Given the description of an element on the screen output the (x, y) to click on. 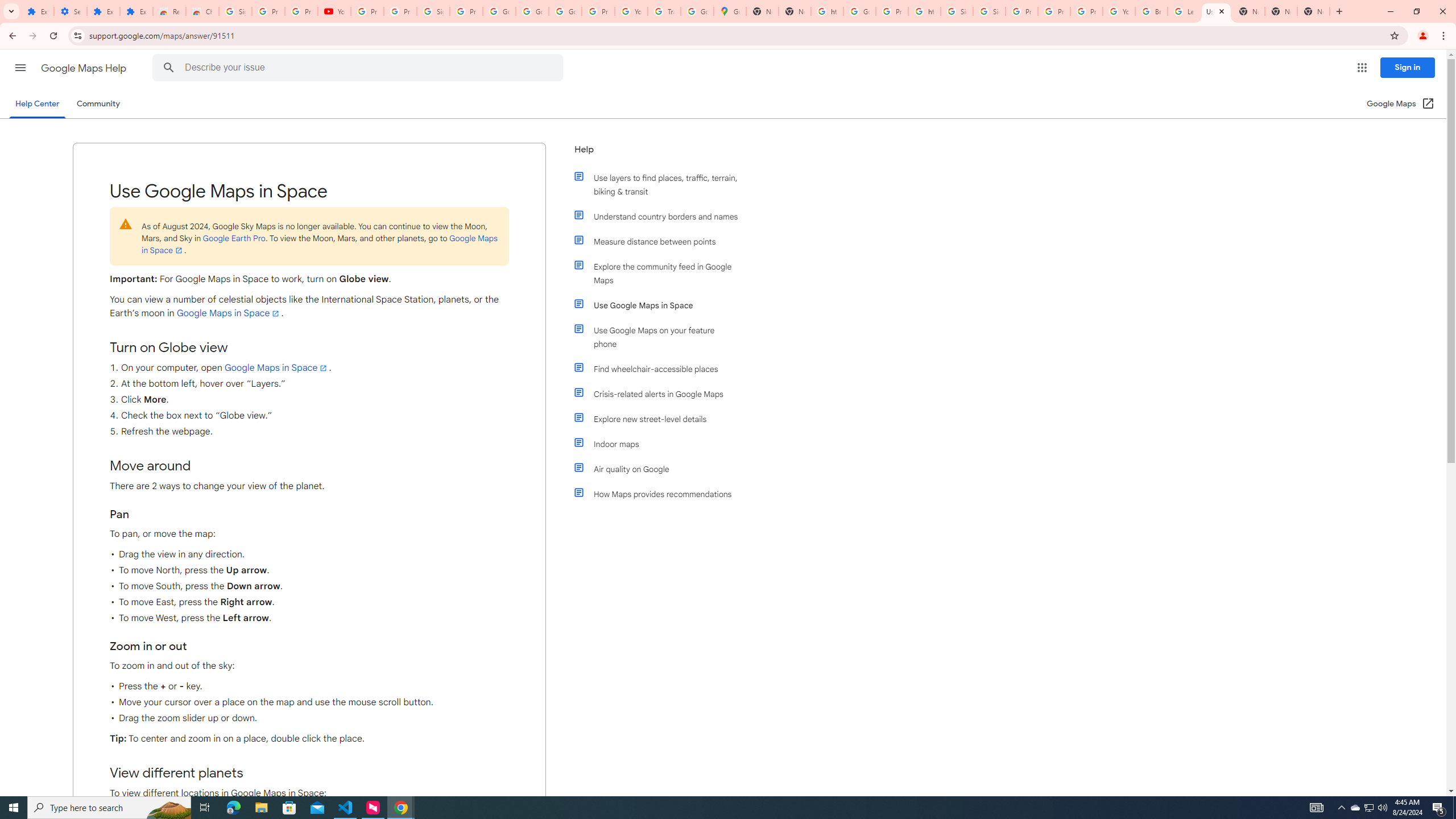
Sign in - Google Accounts (957, 11)
Google Maps (Open in a new window) (1400, 103)
Air quality on Google (661, 469)
https://scholar.google.com/ (827, 11)
Google Maps in Space (276, 367)
YouTube (1118, 11)
Privacy Help Center - Policies Help (1021, 11)
